Given the description of an element on the screen output the (x, y) to click on. 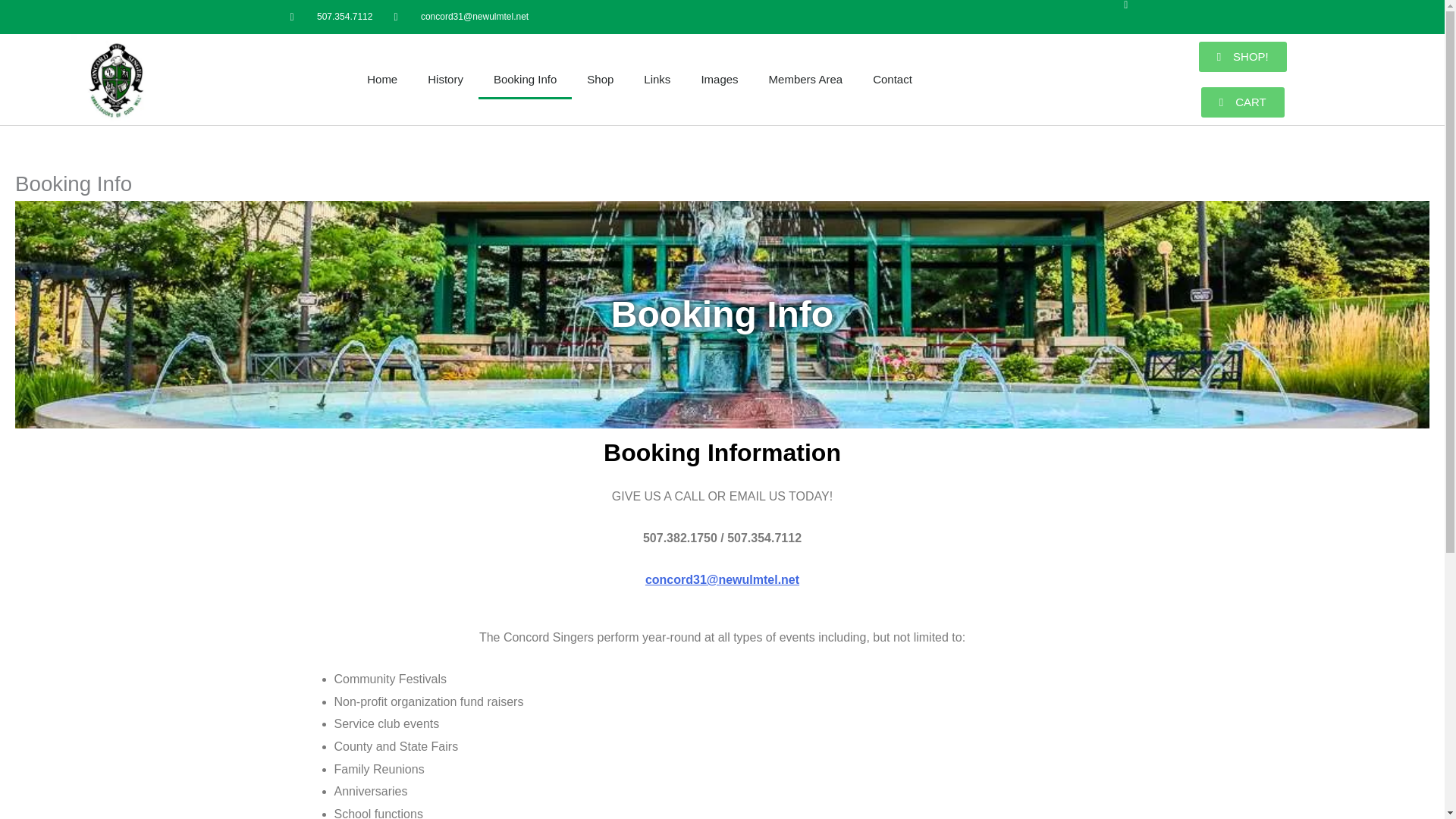
CART (1242, 101)
Home (382, 79)
Facebook-f (1137, 17)
History (445, 79)
Links (656, 79)
Booking Info (525, 79)
Shop (600, 79)
SHOP! (1242, 56)
Images (718, 79)
Contact (892, 79)
Members Area (806, 79)
